Given the description of an element on the screen output the (x, y) to click on. 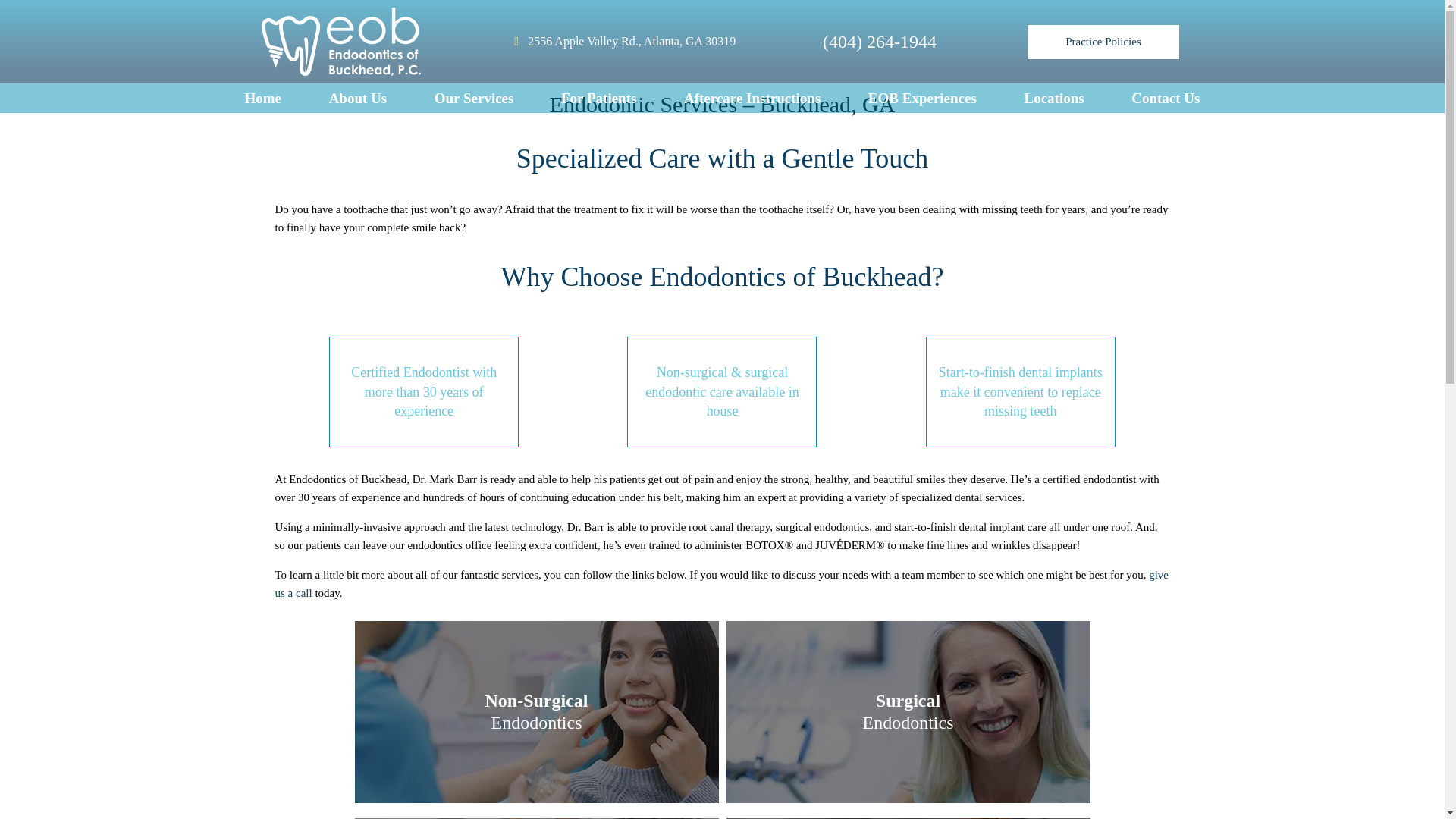
Practice Policies (1103, 41)
Our Services (473, 98)
For Patients (598, 98)
Aftercare Instructions (752, 98)
Endodontist Buckhead (621, 41)
About Us (261, 98)
EOB Experiences (357, 98)
About Us (922, 98)
Endodontic Services (357, 98)
